Given the description of an element on the screen output the (x, y) to click on. 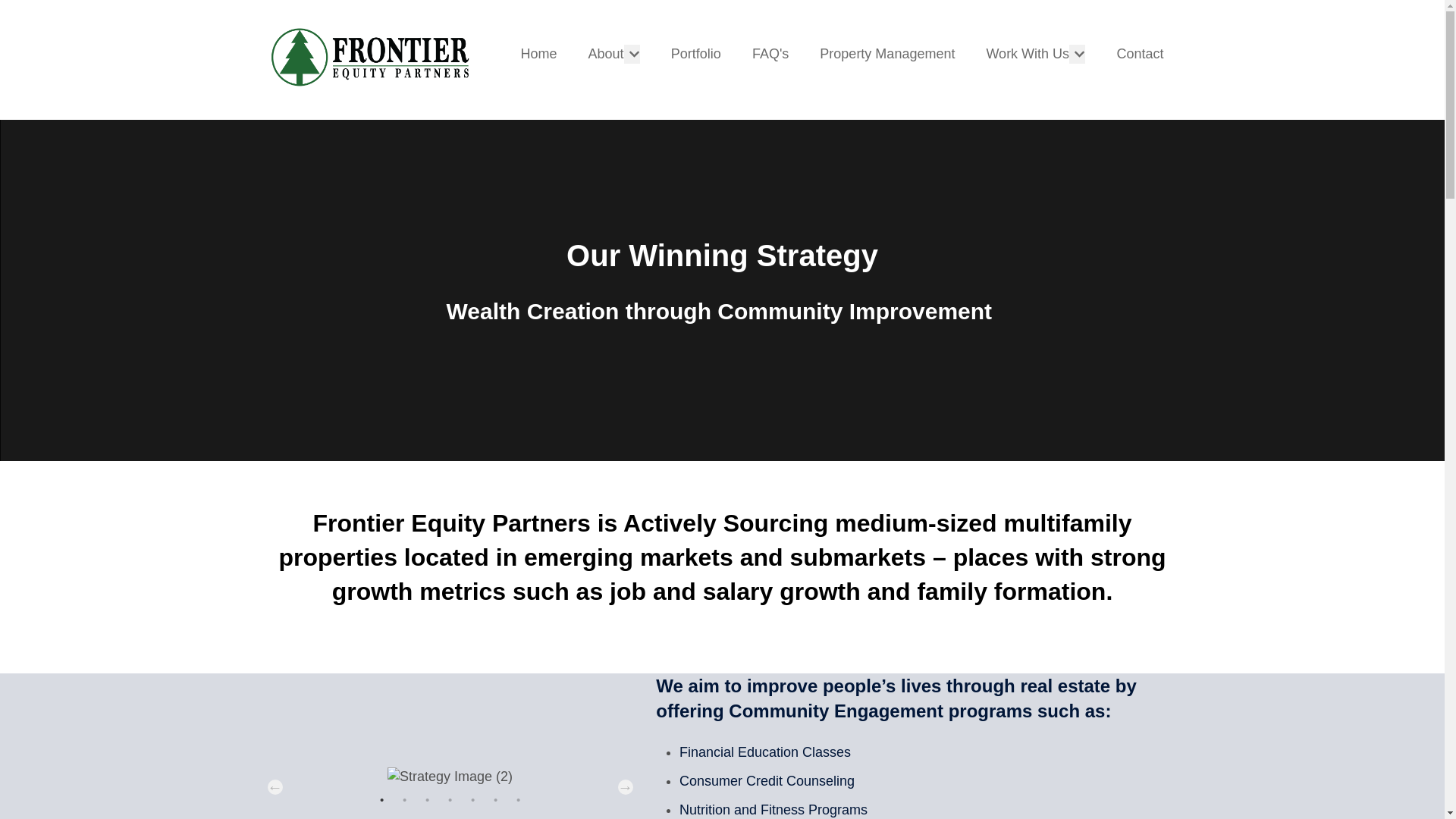
Home (537, 54)
Contact (1139, 54)
4 (450, 799)
Property Management (887, 54)
Work With Us (1026, 54)
Portfolio (695, 54)
FAQ's (770, 54)
3 (427, 799)
1 (382, 799)
2 (404, 799)
About (605, 54)
